Given the description of an element on the screen output the (x, y) to click on. 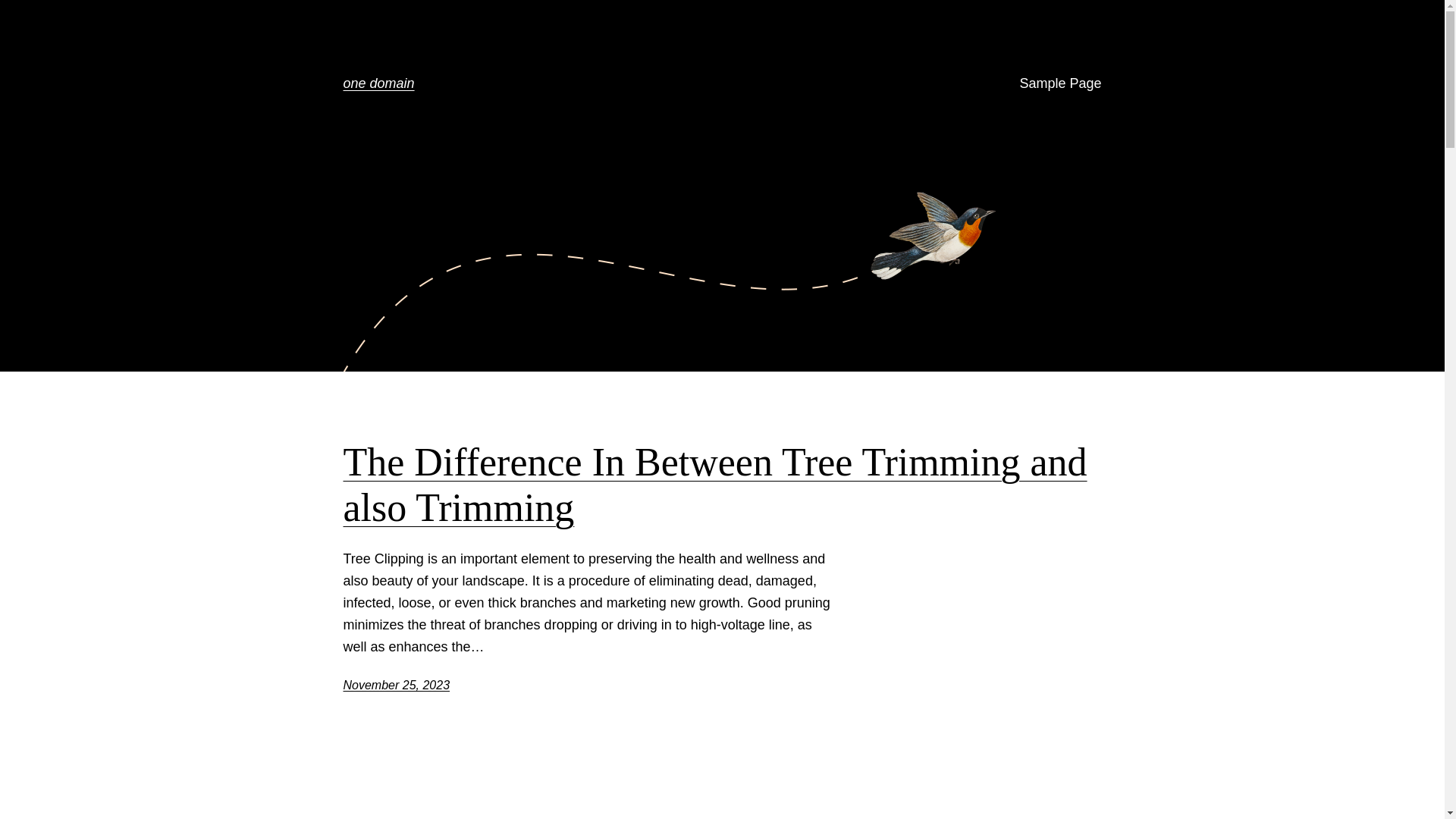
Sample Page Element type: text (1060, 83)
The Difference In Between Tree Trimming and also Trimming Element type: text (721, 484)
one domain Element type: text (378, 83)
November 25, 2023 Element type: text (395, 684)
